Given the description of an element on the screen output the (x, y) to click on. 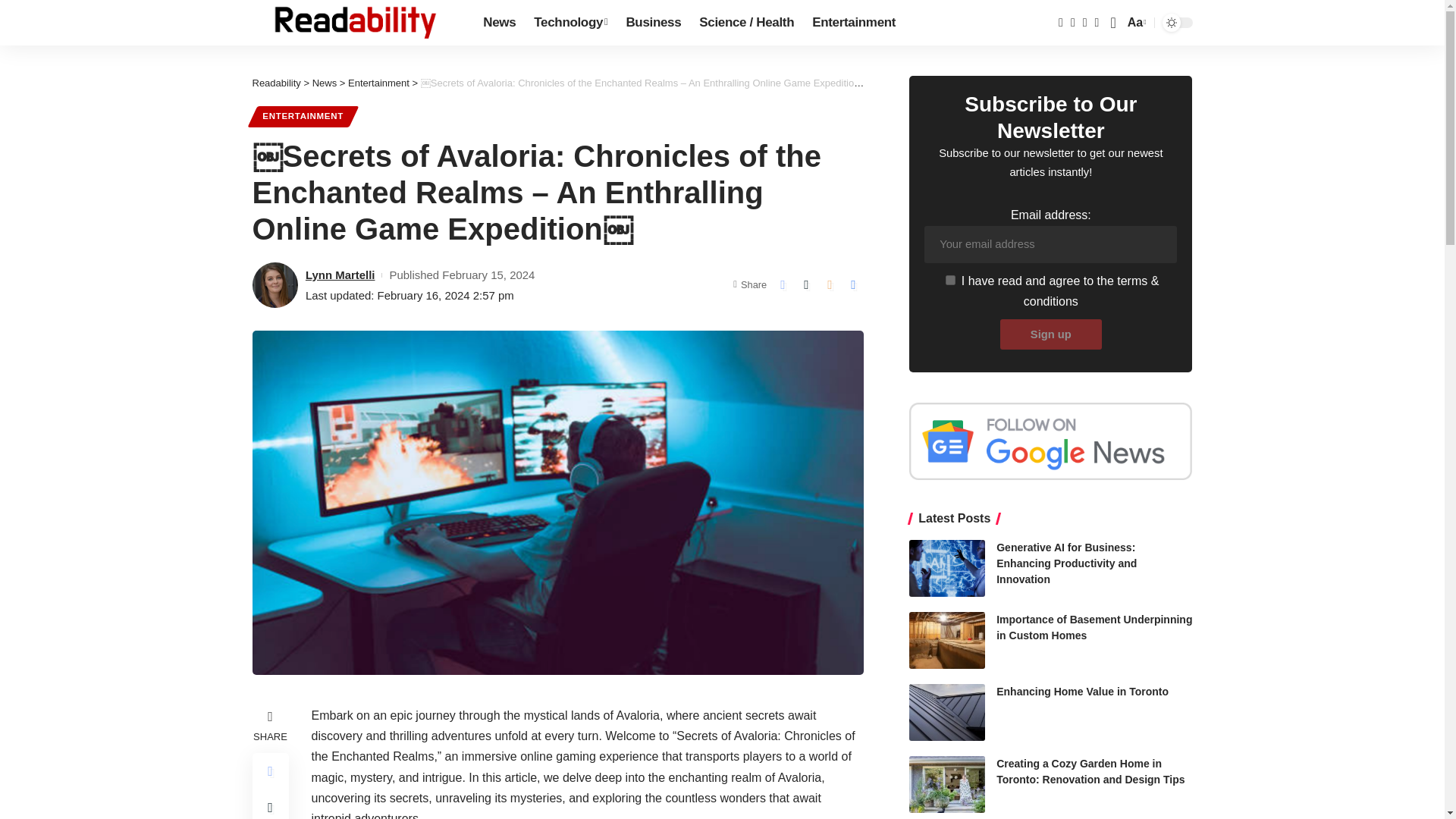
Go to the News Category archives. (325, 82)
Sign up (1051, 334)
News (499, 22)
Entertainment (853, 22)
Importance of Basement Underpinning in Custom Homes (946, 640)
Go to the Entertainment Category archives. (378, 82)
Technology (569, 22)
Readability (354, 22)
